Given the description of an element on the screen output the (x, y) to click on. 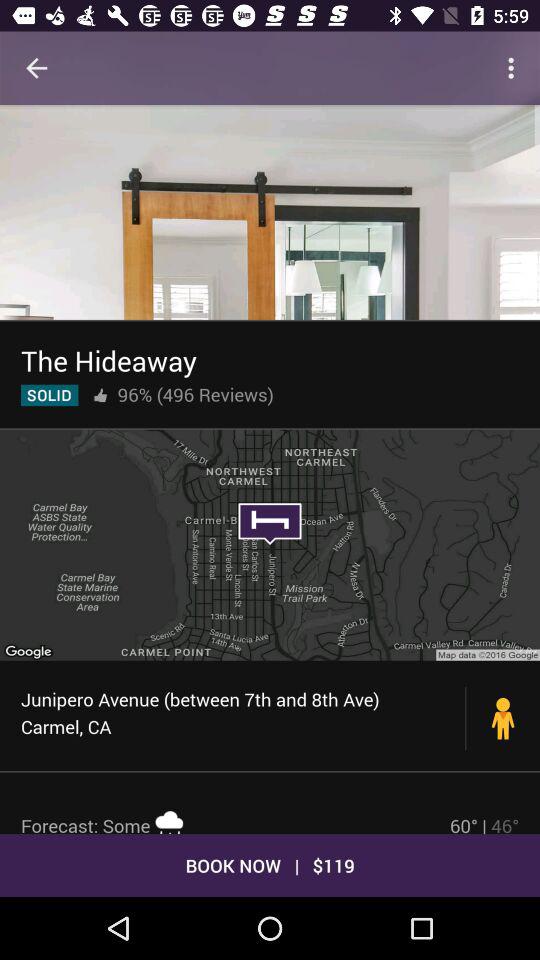
open the icon next to the forecast: some (484, 823)
